Given the description of an element on the screen output the (x, y) to click on. 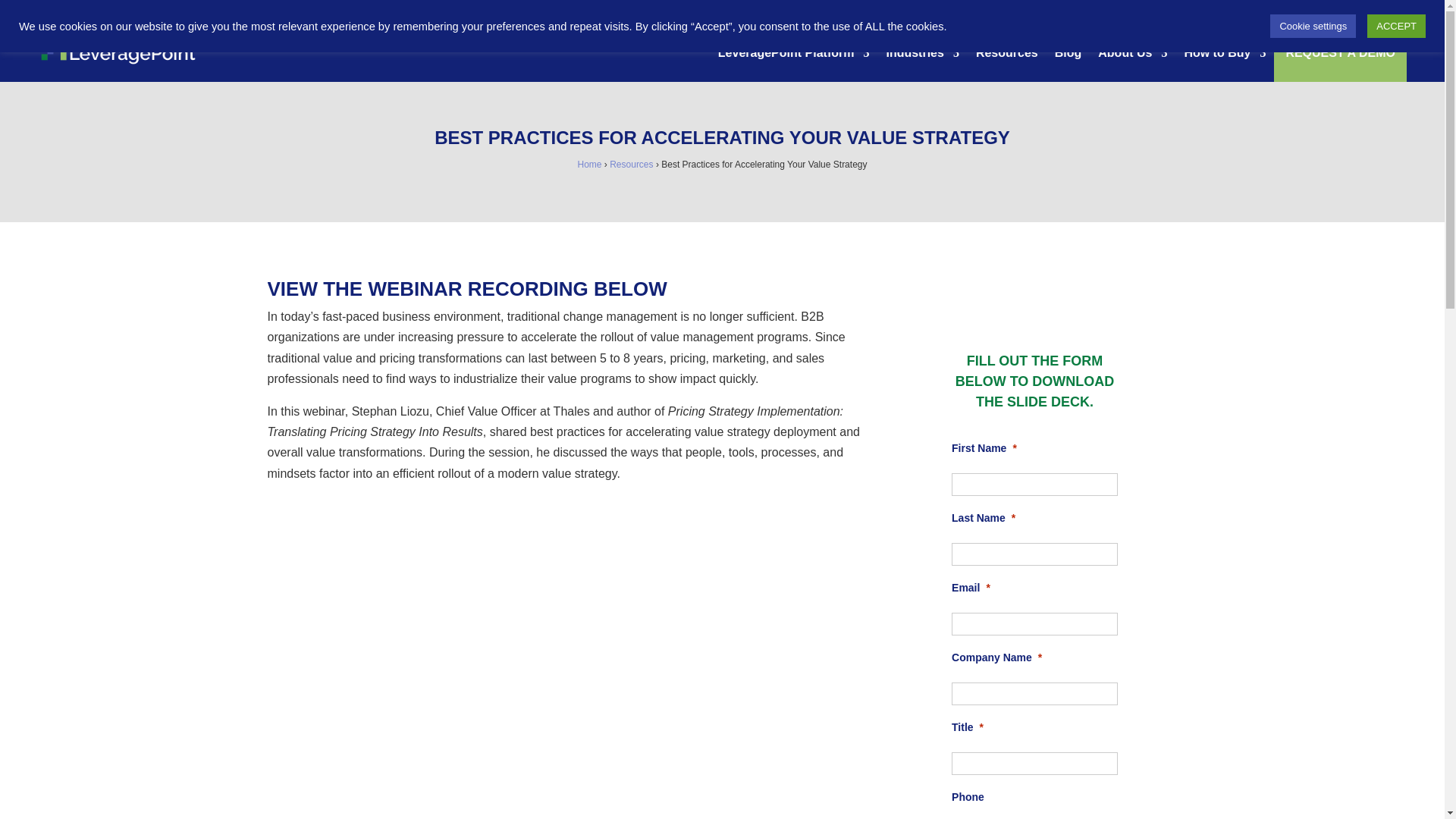
LOGIN (1389, 10)
REQUEST A DEMO (1339, 52)
How to Buy (1224, 52)
617-945-7075 (1268, 10)
About Us (1132, 52)
Industries (921, 52)
LeveragePoint Platform (793, 52)
Resources (1006, 52)
SUPPORT (1336, 10)
